Given the description of an element on the screen output the (x, y) to click on. 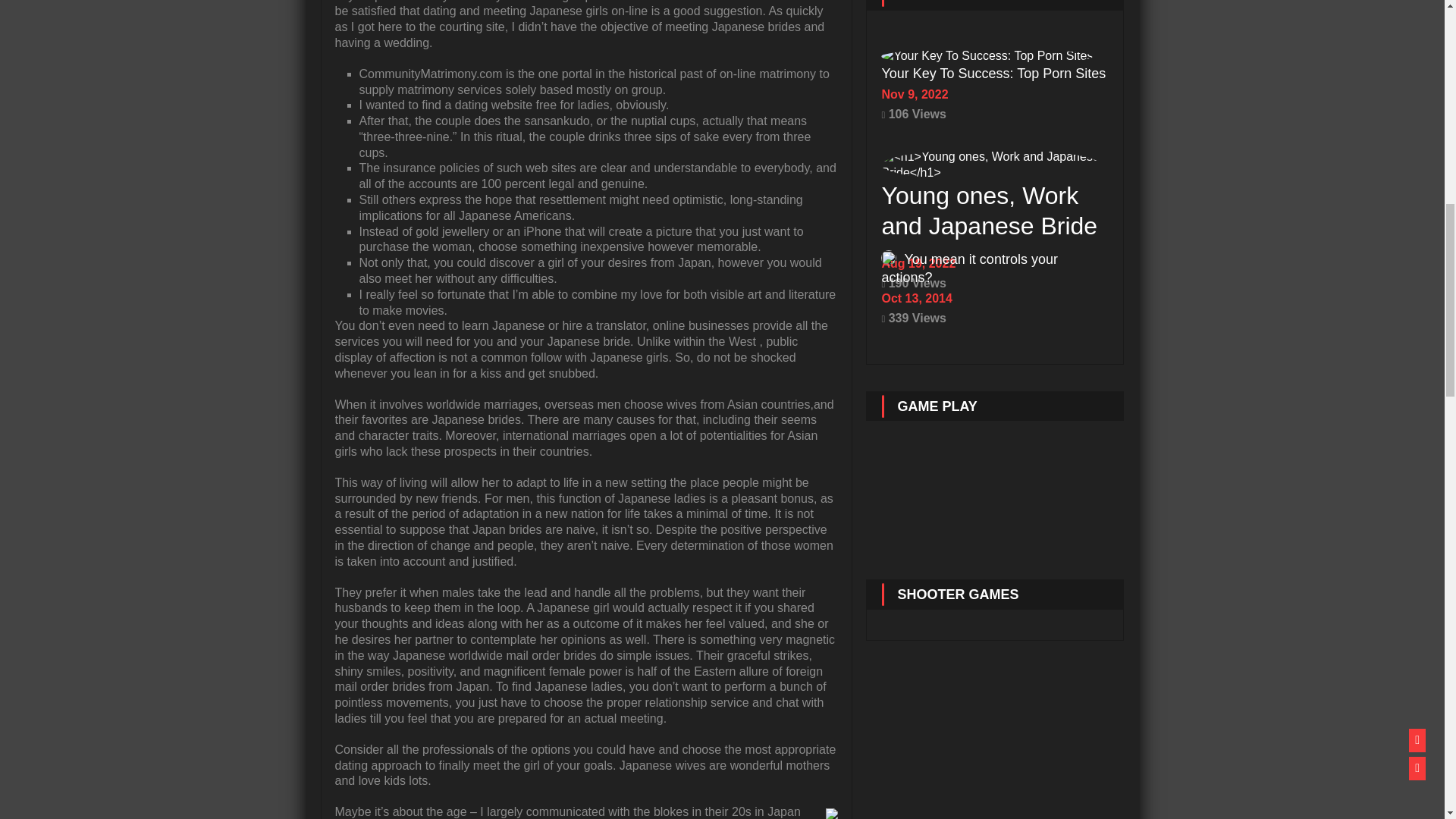
Your Key To Success: Top Porn Sites (992, 75)
Oct 13, 2014 (994, 299)
You mean it controls your actions? (968, 270)
Nov 9, 2022 (994, 94)
Aug 19, 2022 (994, 263)
Your Key To Success: Top Porn Sites (986, 57)
